Given the description of an element on the screen output the (x, y) to click on. 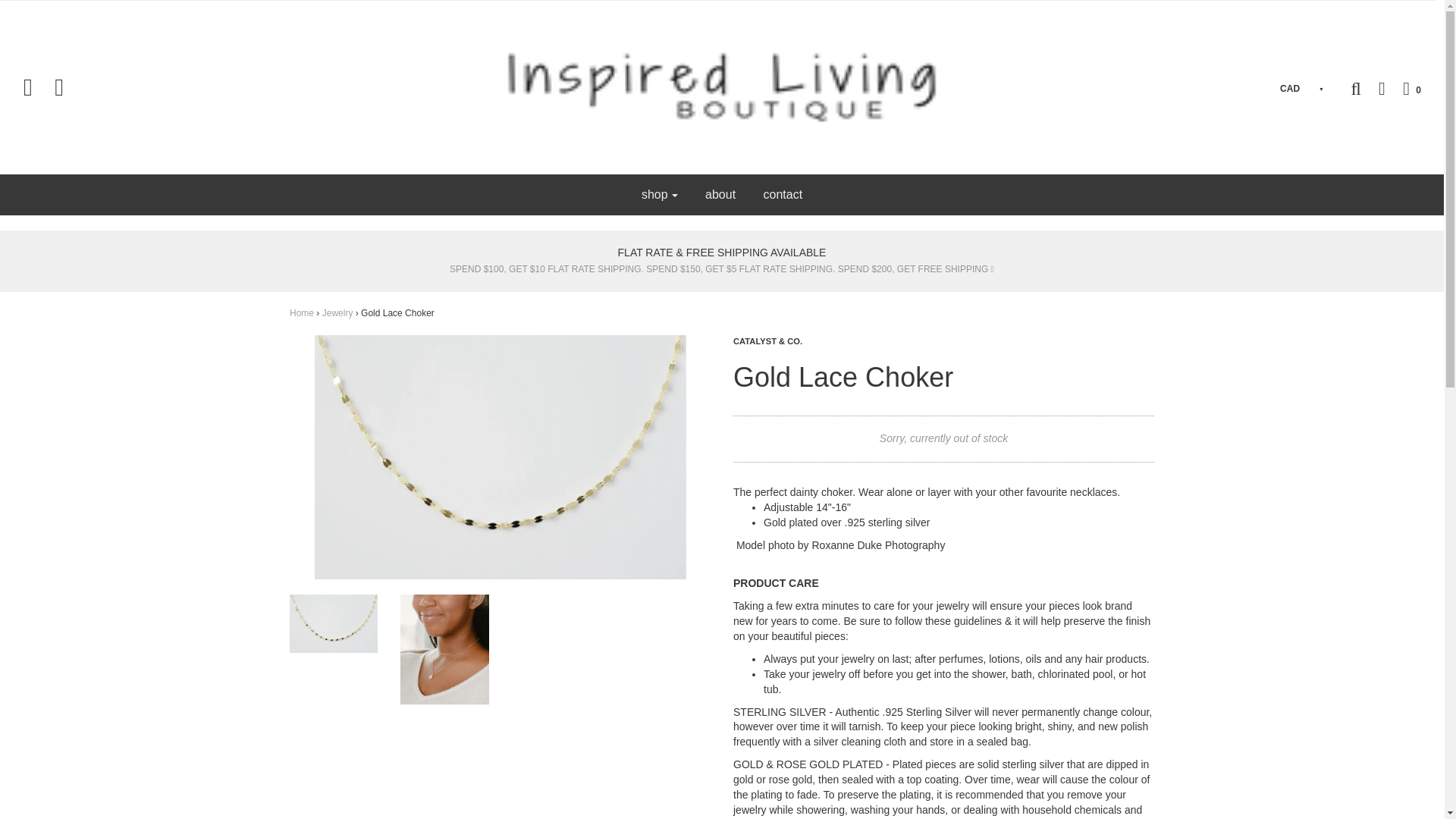
Gold Lace Choker (443, 649)
Log in (1374, 87)
Search (1355, 87)
Your Cart (1404, 87)
0 (1404, 87)
Home (301, 312)
about (720, 194)
Gold Lace Choker (333, 623)
contact (782, 194)
Jewelry (337, 312)
shop (659, 194)
Back to the frontpage (301, 312)
